Given the description of an element on the screen output the (x, y) to click on. 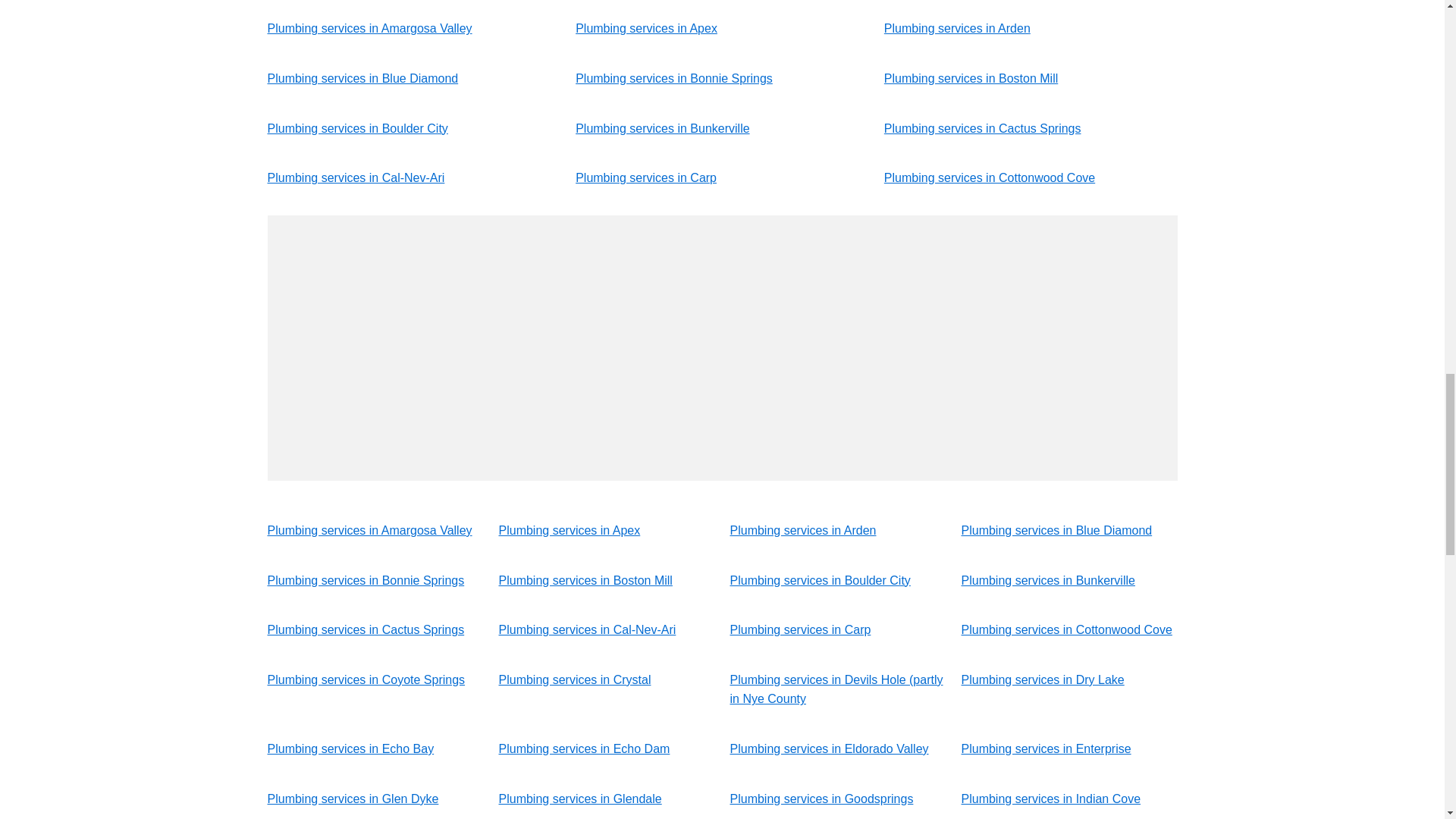
Plumbing services in Bunkerville (662, 128)
Plumbing services in Blue Diamond (362, 78)
Plumbing services in Arden (956, 28)
Plumbing services in Cactus Springs (982, 128)
Plumbing services in Arden (802, 530)
Plumbing services in Boulder City (356, 128)
Plumbing services in Cottonwood Cove (988, 177)
Plumbing services in Bonnie Springs (674, 78)
Plumbing services in Apex (569, 530)
Plumbing services in Carp (645, 177)
Plumbing services in Apex (646, 28)
Plumbing services in Cal-Nev-Ari (355, 177)
Plumbing services in Amargosa Valley (368, 28)
Plumbing services in Amargosa Valley (368, 530)
